Given the description of an element on the screen output the (x, y) to click on. 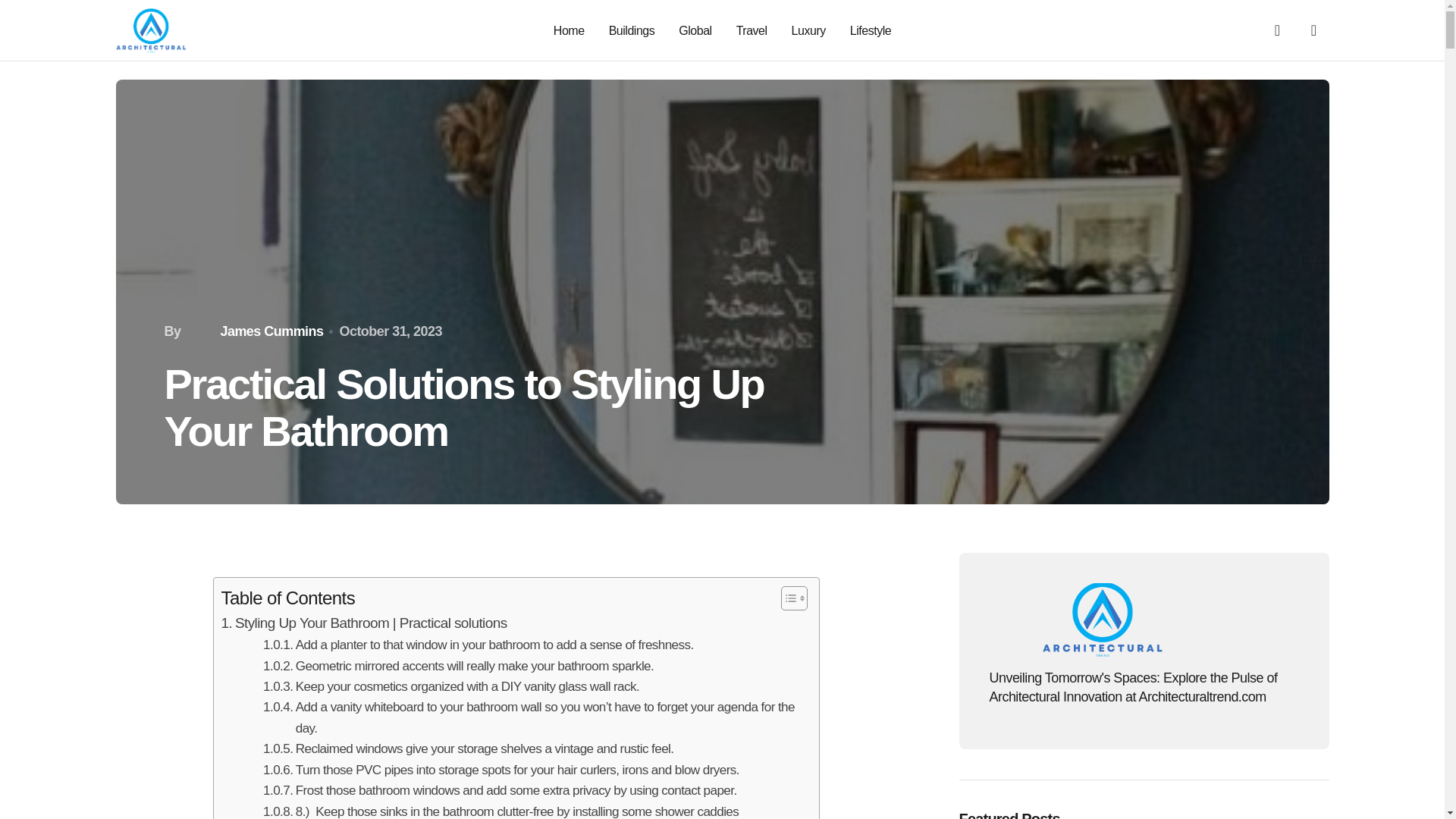
Travel (751, 30)
Home (569, 30)
Luxury (808, 30)
Buildings (631, 30)
Global (694, 30)
